Given the description of an element on the screen output the (x, y) to click on. 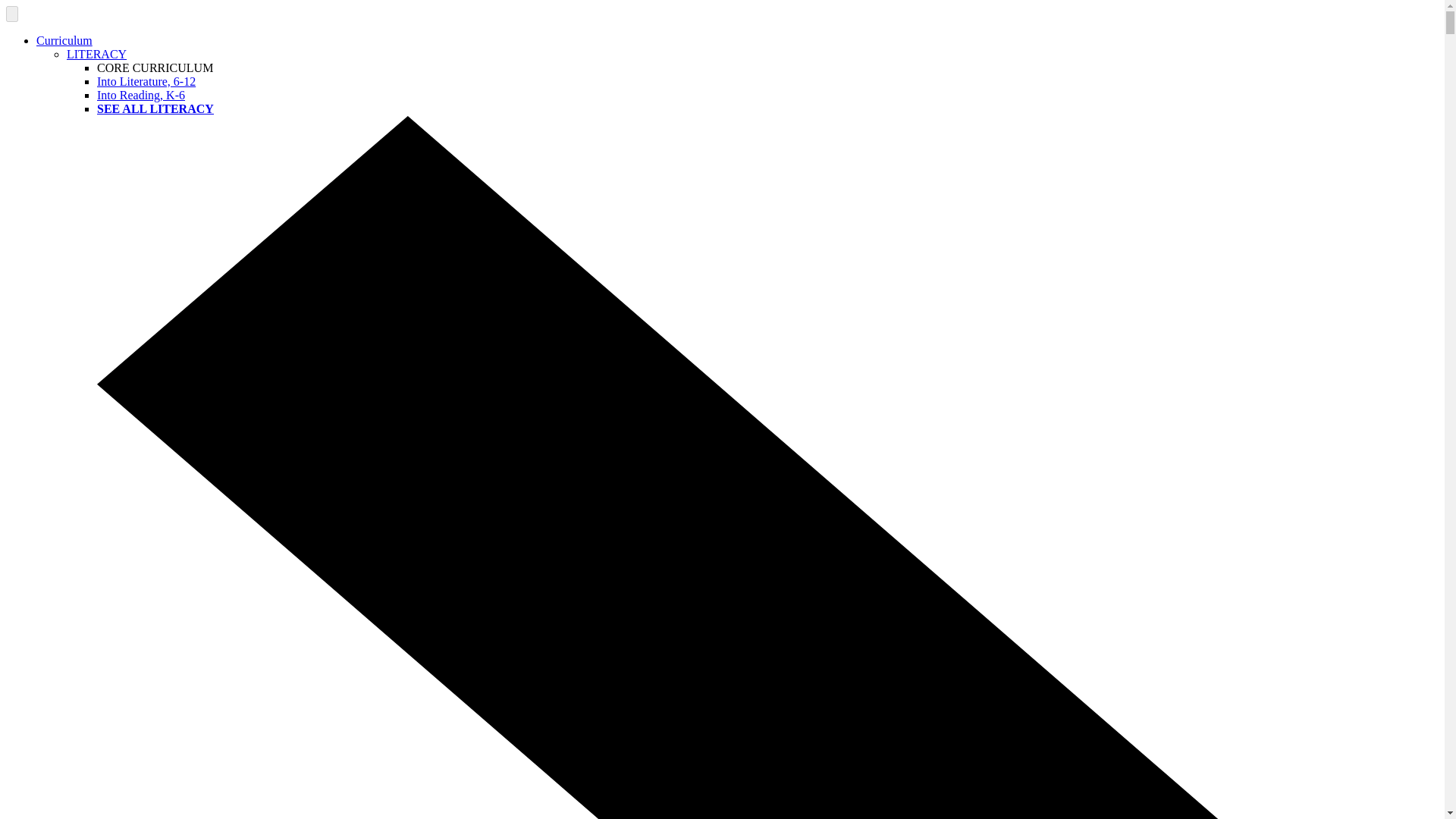
LITERACY (96, 53)
Curriculum (64, 40)
Into Reading, K-6 (140, 94)
Into Literature, 6-12 (146, 81)
Into Reading, K-6 (140, 94)
Into Literature, 6-12 (146, 81)
